Given the description of an element on the screen output the (x, y) to click on. 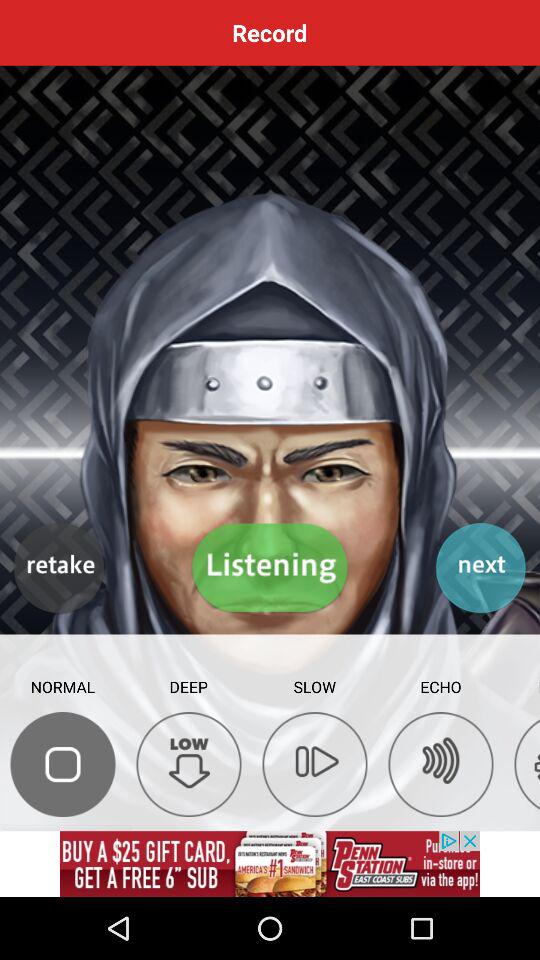
next song (480, 568)
